Given the description of an element on the screen output the (x, y) to click on. 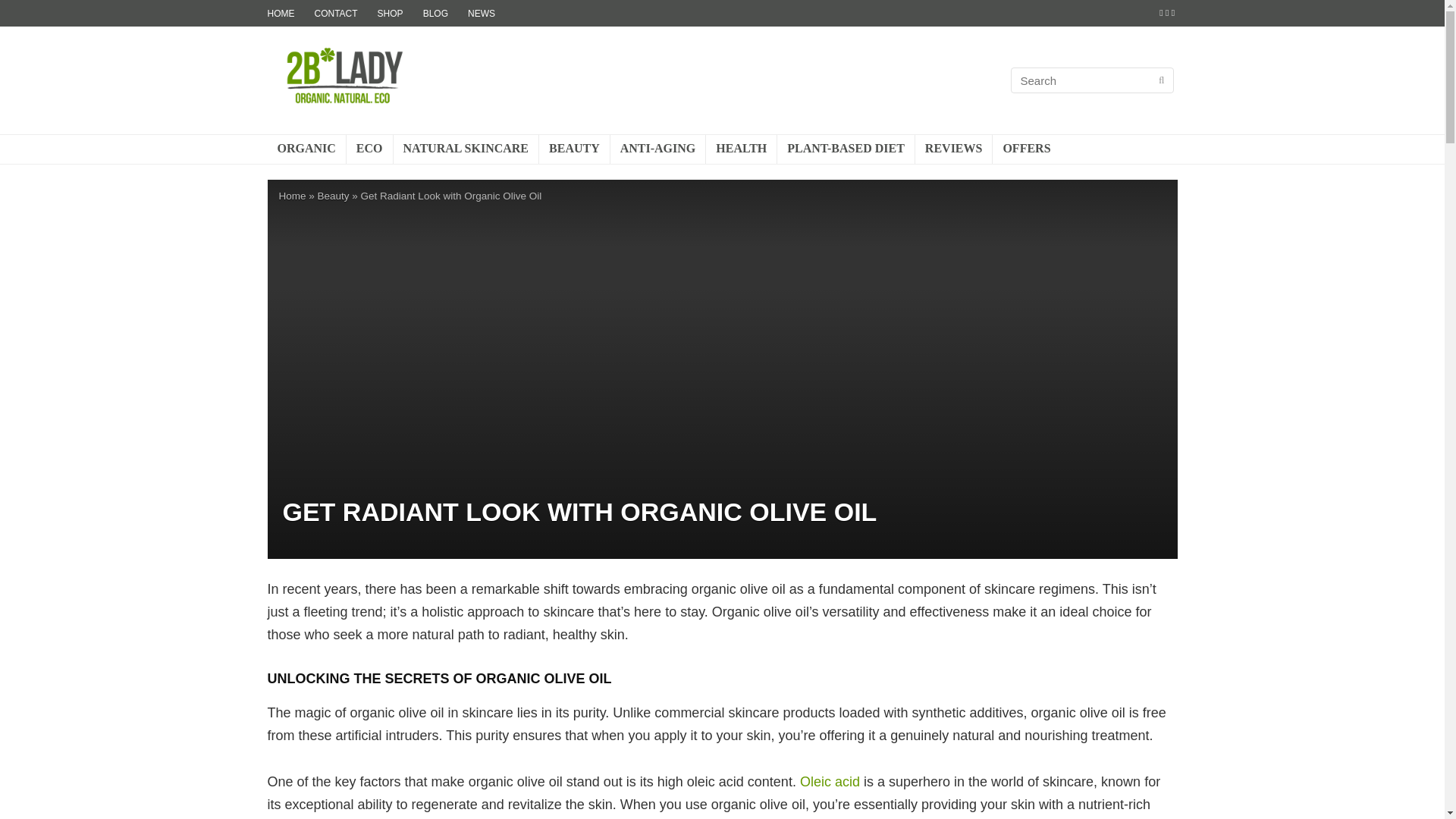
Beauty (333, 195)
REVIEWS (953, 149)
ORGANIC (305, 149)
HEALTH (741, 149)
CONTACT (335, 12)
ANTI-AGING (658, 149)
ECO (369, 149)
OFFERS (1025, 149)
Oleic acid (828, 781)
SHOP (390, 12)
